Given the description of an element on the screen output the (x, y) to click on. 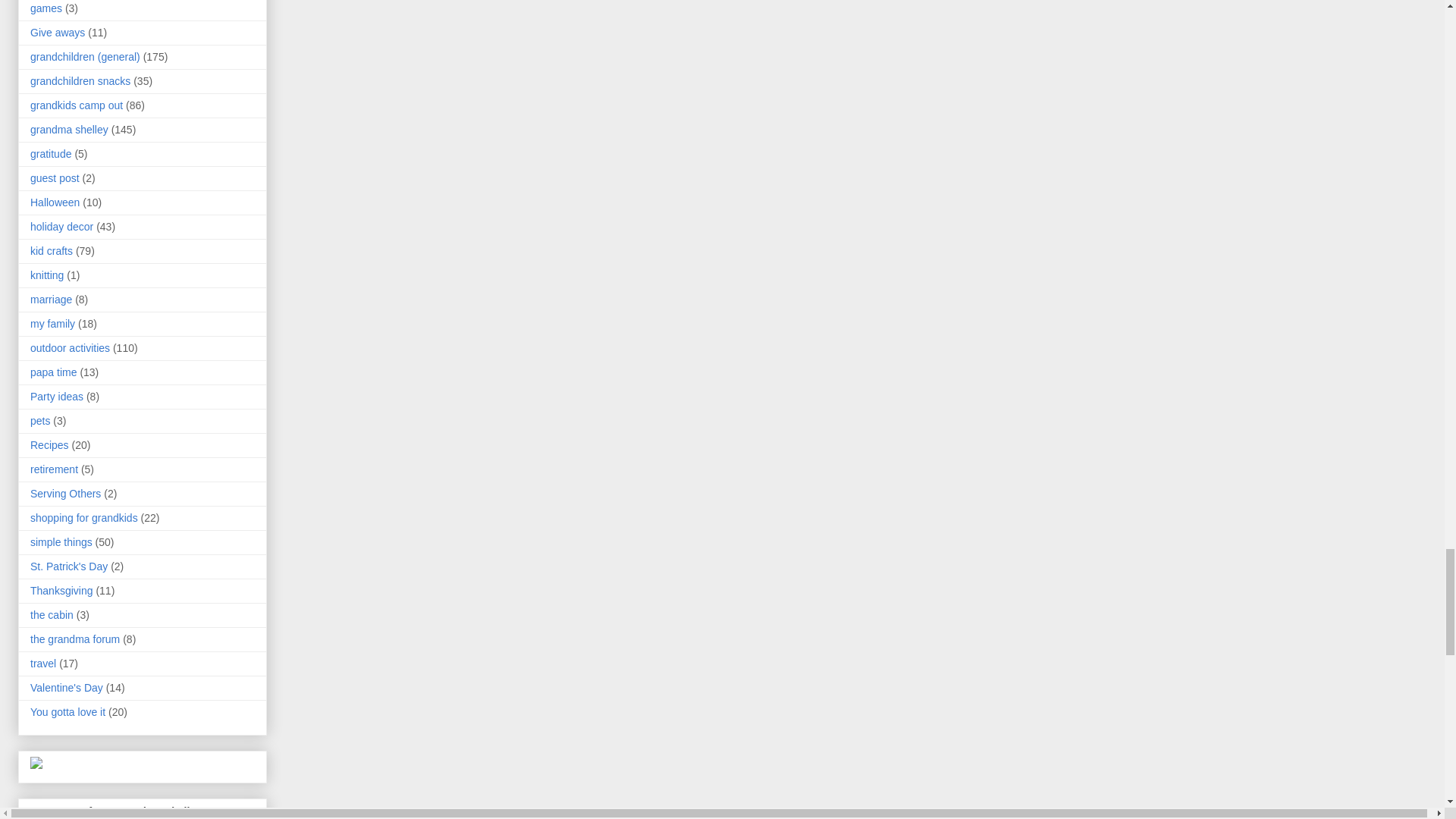
SugarDoodle.net (36, 762)
SugarDoodle.net (36, 765)
